Given the description of an element on the screen output the (x, y) to click on. 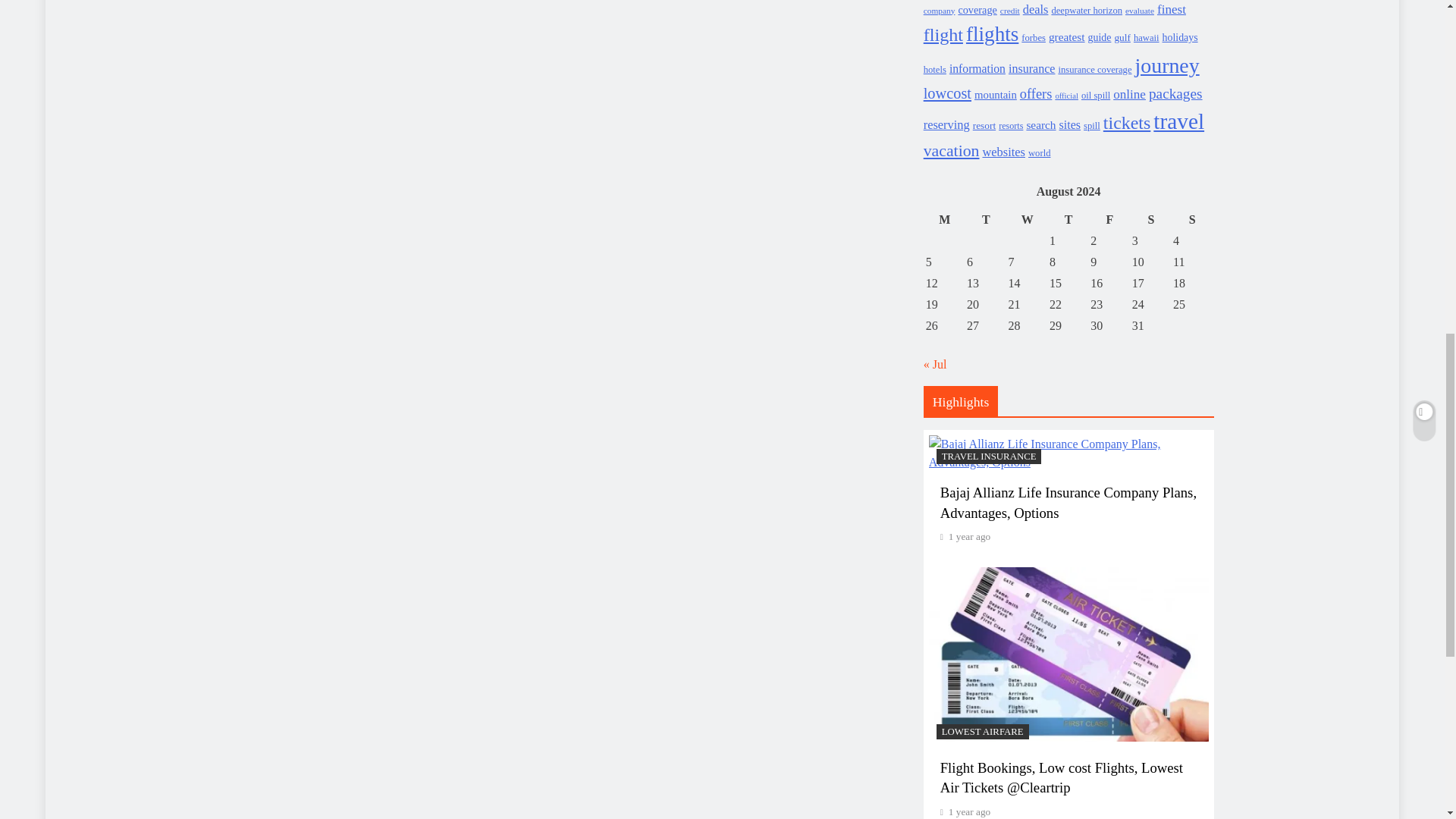
Monday (943, 219)
Saturday (1150, 219)
Thursday (1067, 219)
Wednesday (1026, 219)
Tuesday (986, 219)
Sunday (1191, 219)
Friday (1109, 219)
